Given the description of an element on the screen output the (x, y) to click on. 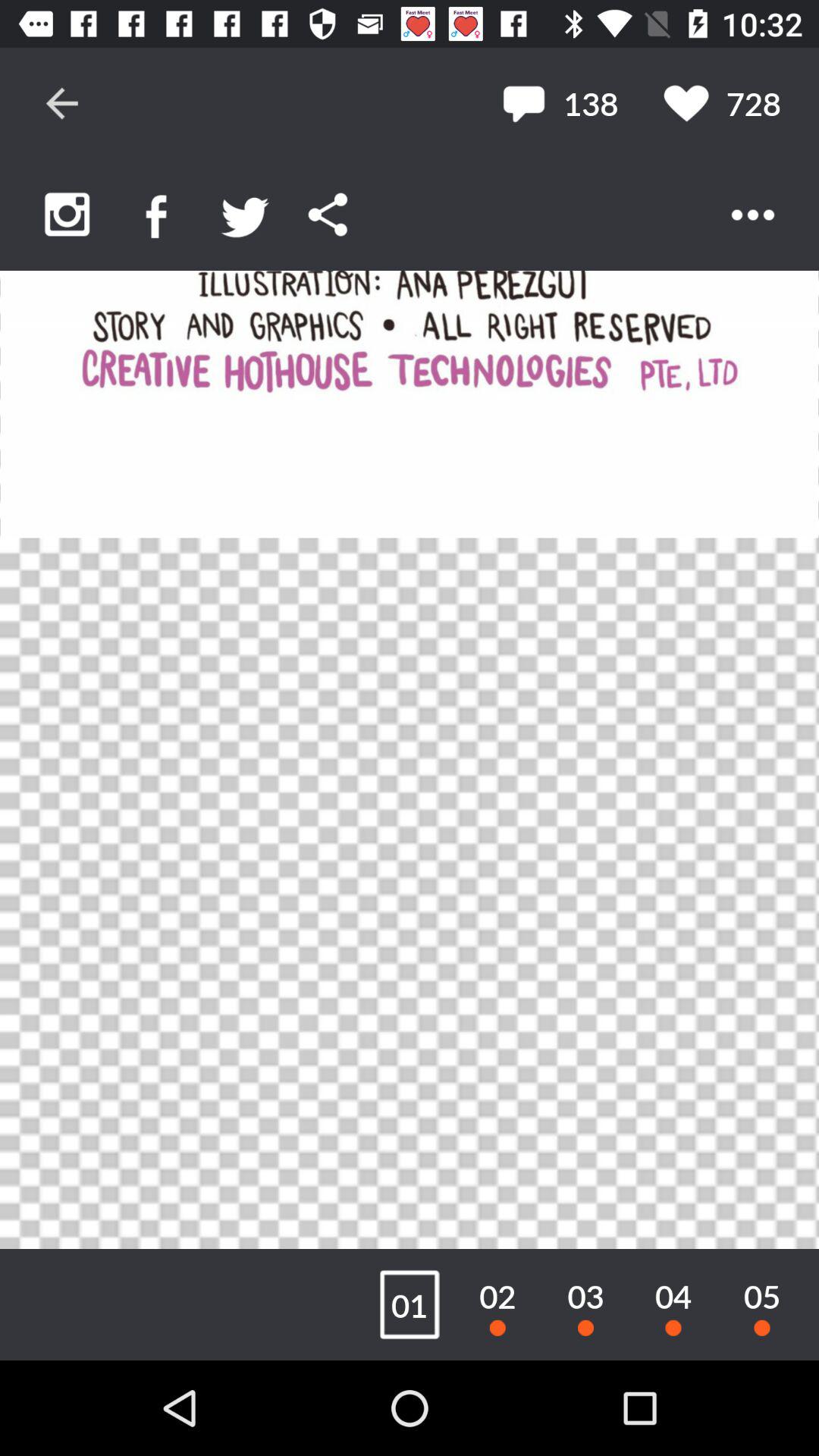
swipe to 01 item (409, 1304)
